Given the description of an element on the screen output the (x, y) to click on. 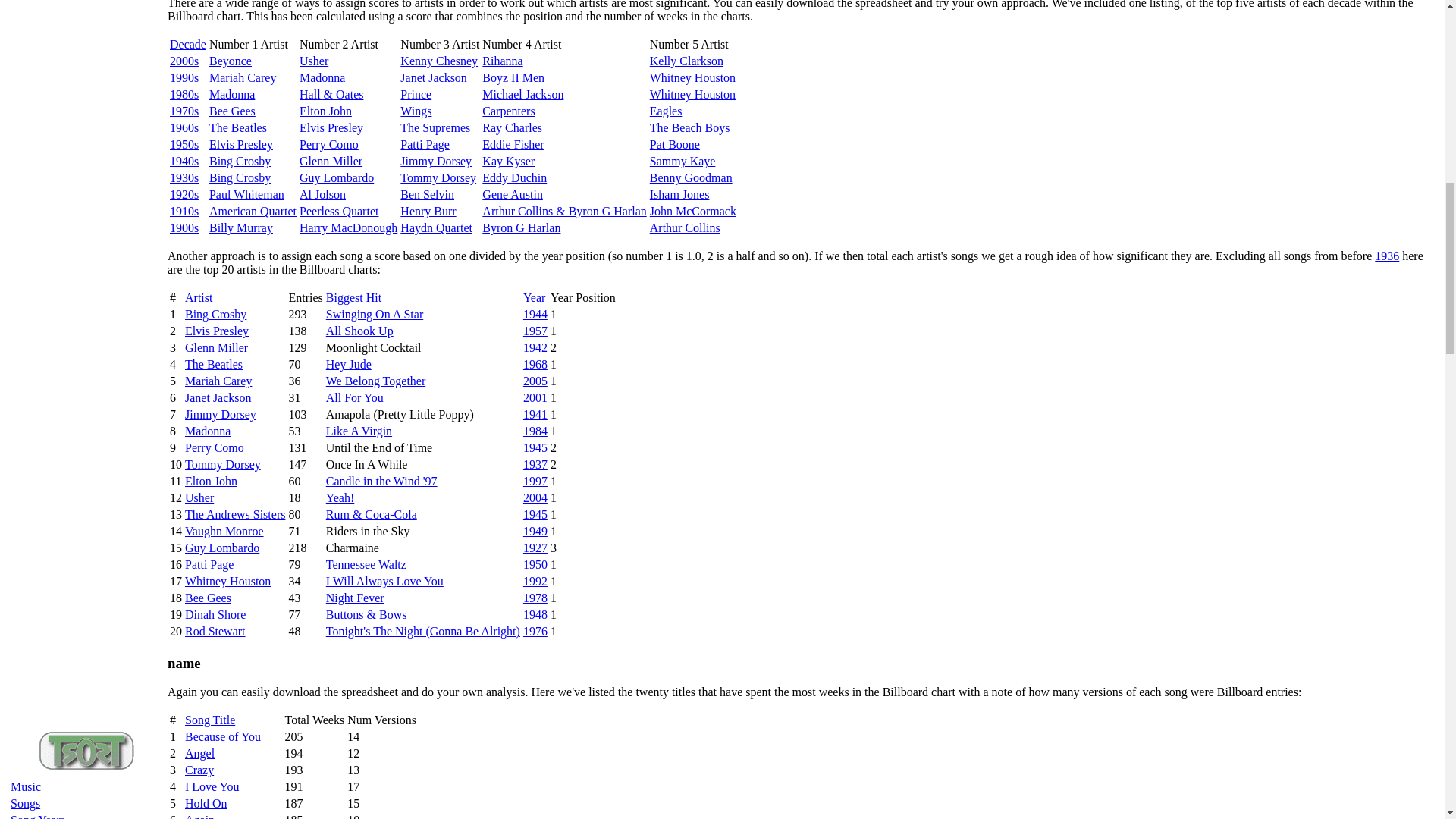
2000s (184, 60)
Songs (25, 802)
Kenny Chesney (438, 60)
Rihanna (501, 60)
Song Years (37, 816)
Decade (188, 43)
Music (25, 786)
Beyonce (230, 60)
Usher (314, 60)
